Given the description of an element on the screen output the (x, y) to click on. 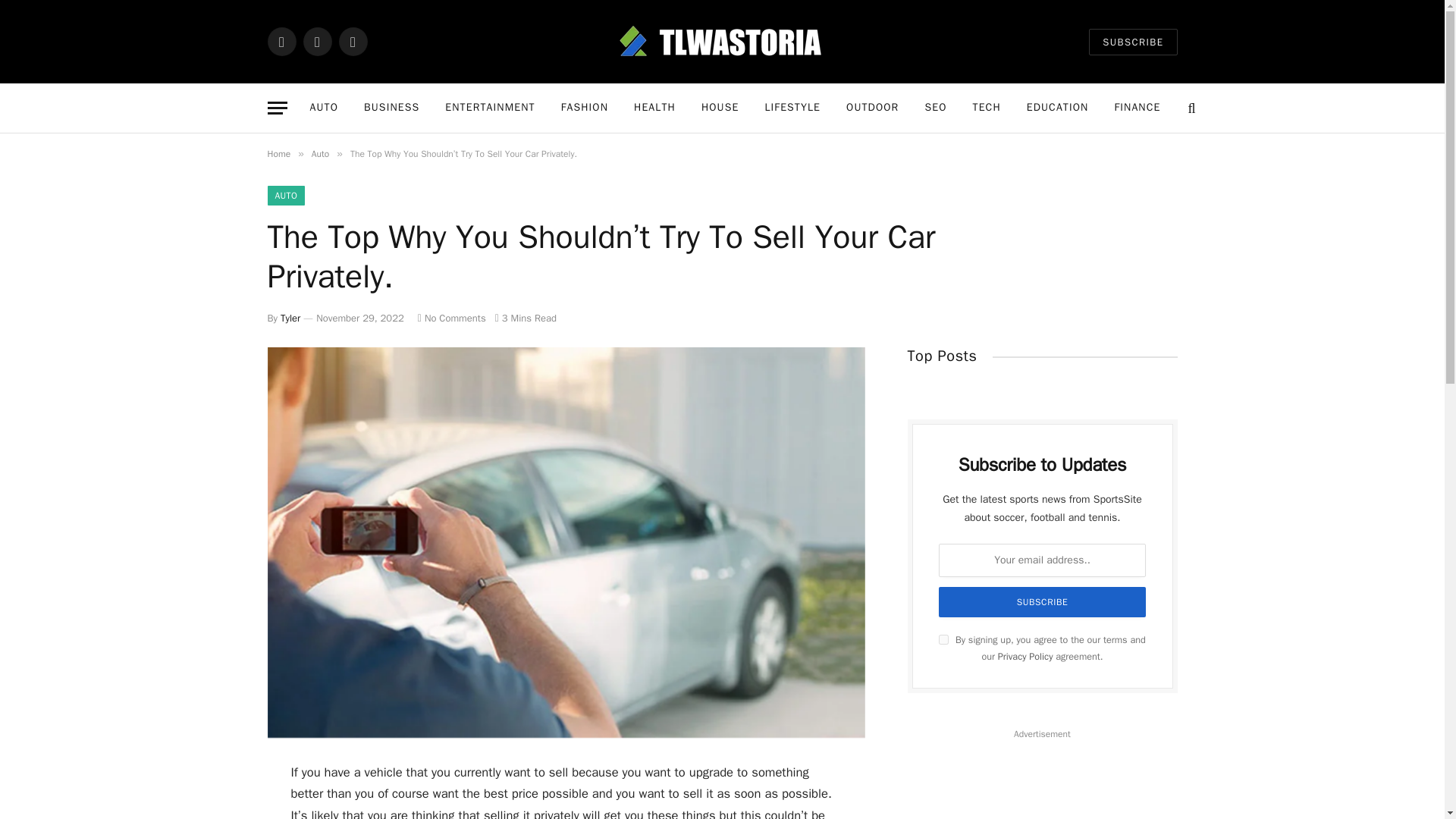
BUSINESS (391, 107)
Posts by Tyler (290, 318)
Facebook (280, 41)
Home (277, 153)
SUBSCRIBE (1132, 41)
No Comments (451, 318)
TlwaStoria (721, 41)
FASHION (584, 107)
Instagram (351, 41)
ENTERTAINMENT (489, 107)
Tyler (290, 318)
Subscribe (1043, 602)
OUTDOOR (871, 107)
SEO (935, 107)
on (944, 639)
